Given the description of an element on the screen output the (x, y) to click on. 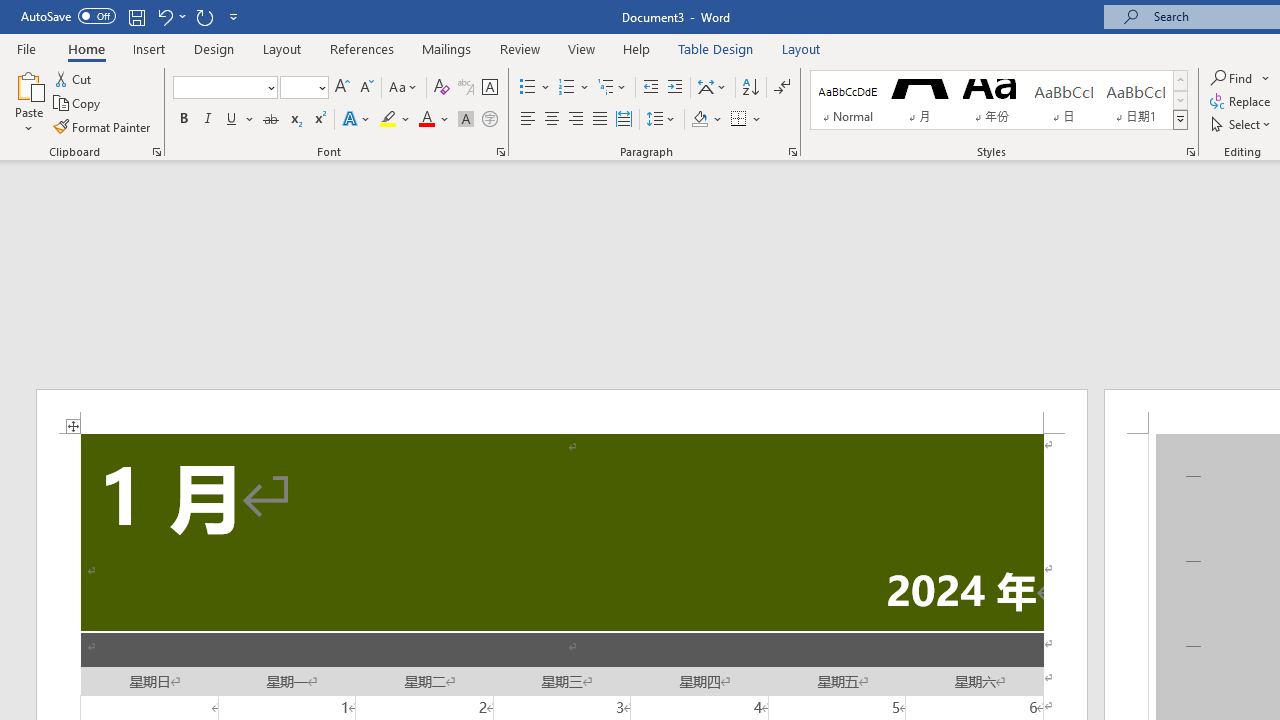
Styles (1179, 120)
Align Right (575, 119)
Office Clipboard... (156, 151)
Format Painter (103, 126)
Text Highlight Color (395, 119)
